Given the description of an element on the screen output the (x, y) to click on. 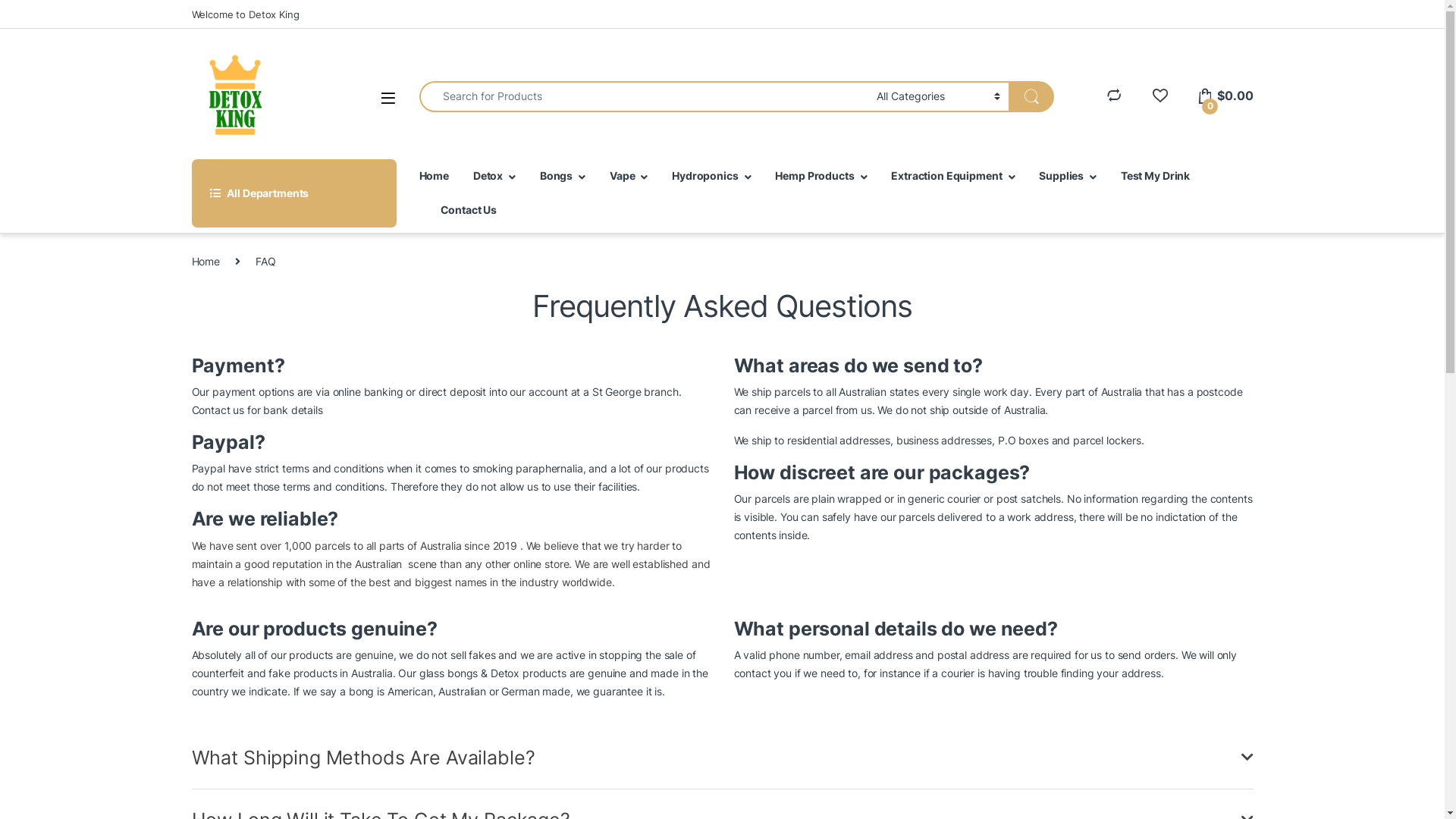
Welcome to Detox King Element type: text (244, 14)
Home Element type: text (433, 176)
Supplies Element type: text (1067, 176)
Home Element type: text (205, 260)
Test My Drink Element type: text (1154, 176)
All Departments Element type: text (293, 193)
Hemp Products Element type: text (820, 176)
Contact Us Element type: text (467, 210)
Detox Element type: text (494, 176)
Bongs Element type: text (562, 176)
0
$0.00 Element type: text (1224, 96)
Vape Element type: text (628, 176)
Hydroponics Element type: text (710, 176)
Extraction Equipment Element type: text (952, 176)
